Given the description of an element on the screen output the (x, y) to click on. 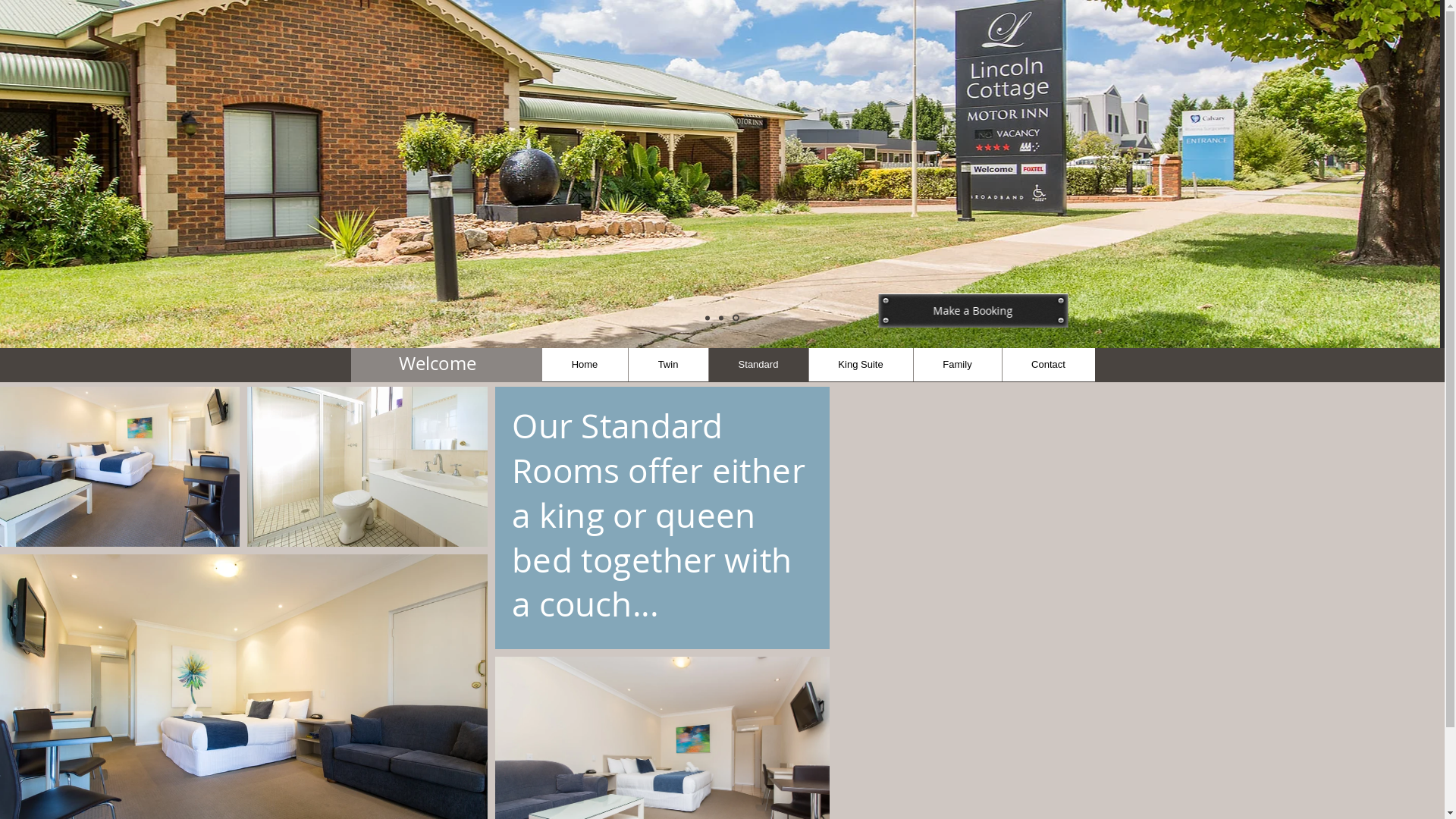
Make a Booking Element type: text (977, 310)
Contact Element type: text (1047, 364)
Twin Element type: text (667, 364)
Family Element type: text (957, 364)
Home Element type: text (584, 364)
Standard Element type: text (758, 364)
King Suite Element type: text (860, 364)
